Given the description of an element on the screen output the (x, y) to click on. 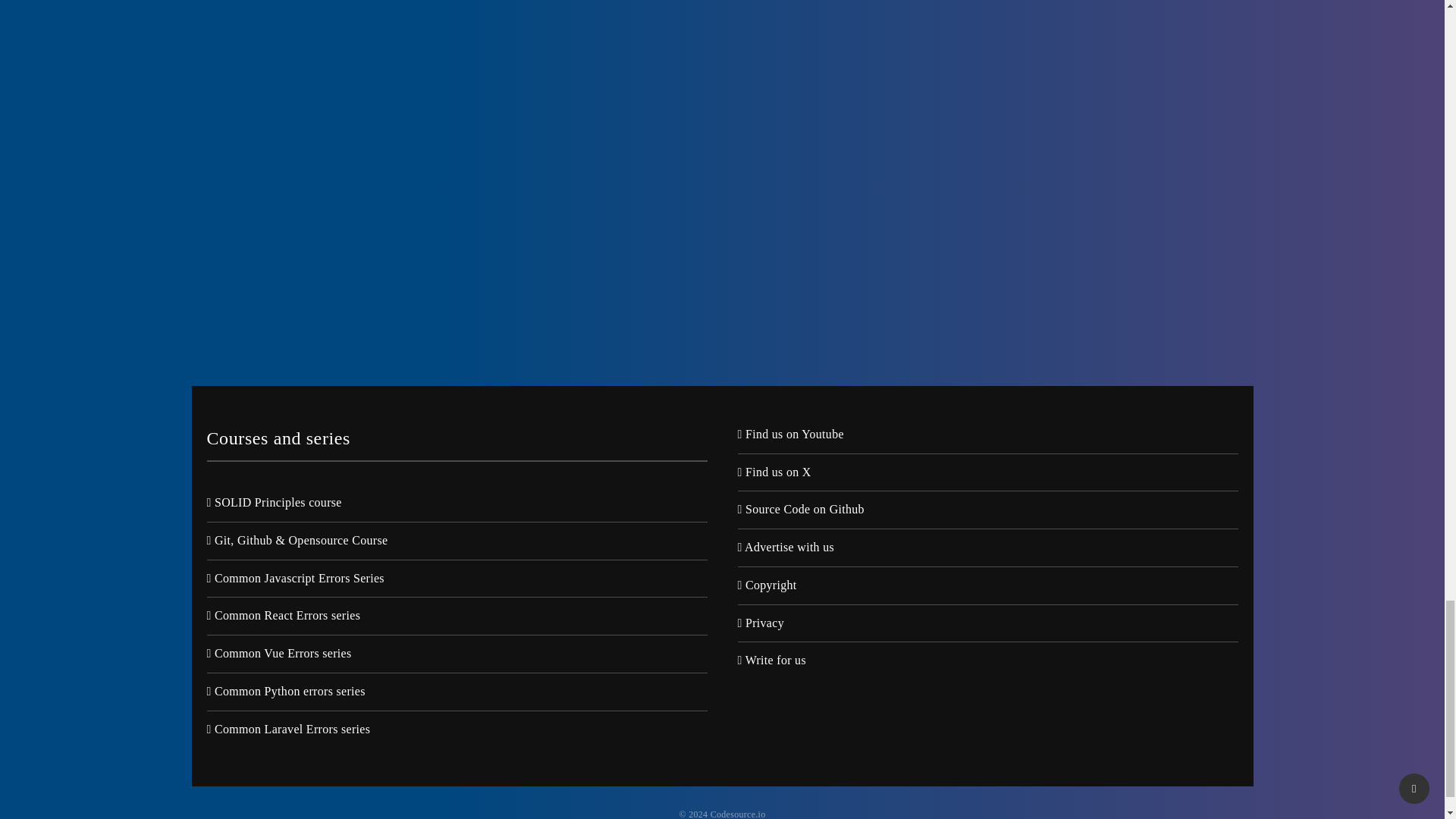
Advertise with us (785, 548)
Common Vue Errors series (278, 655)
Write for us (770, 661)
Common Python errors series (285, 692)
Source Code on Github (799, 510)
Common Javascript Errors Series (295, 579)
Privacy (759, 624)
Copyright (766, 586)
Find us on X (773, 474)
SOLID Principles course (273, 504)
